Given the description of an element on the screen output the (x, y) to click on. 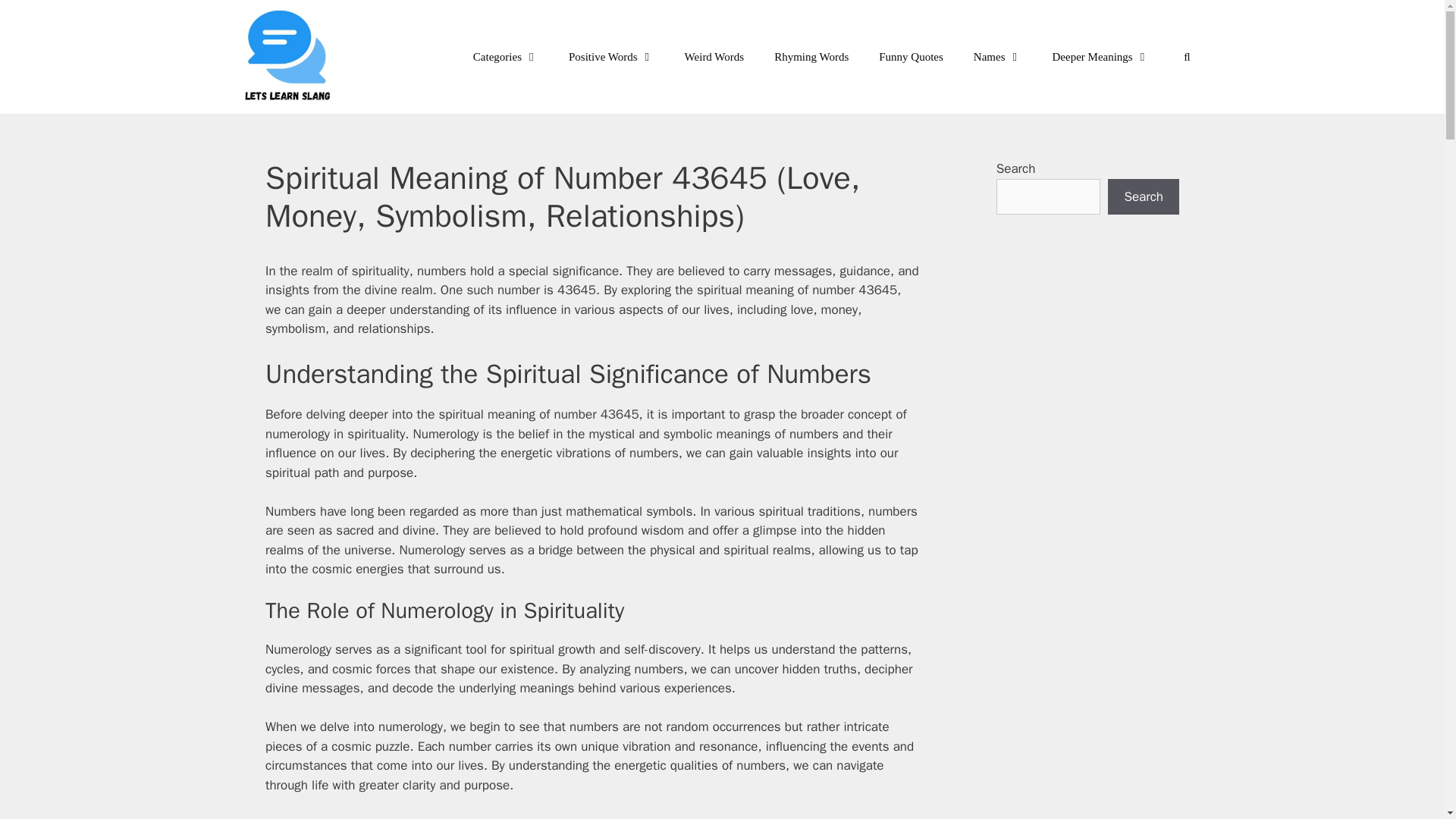
Rhyming Words (810, 56)
Weird Words (714, 56)
Funny Quotes (910, 56)
Categories (505, 56)
Names (997, 56)
Positive Words (611, 56)
Lets Learn Slang (288, 56)
Lets Learn Slang (292, 56)
